Given the description of an element on the screen output the (x, y) to click on. 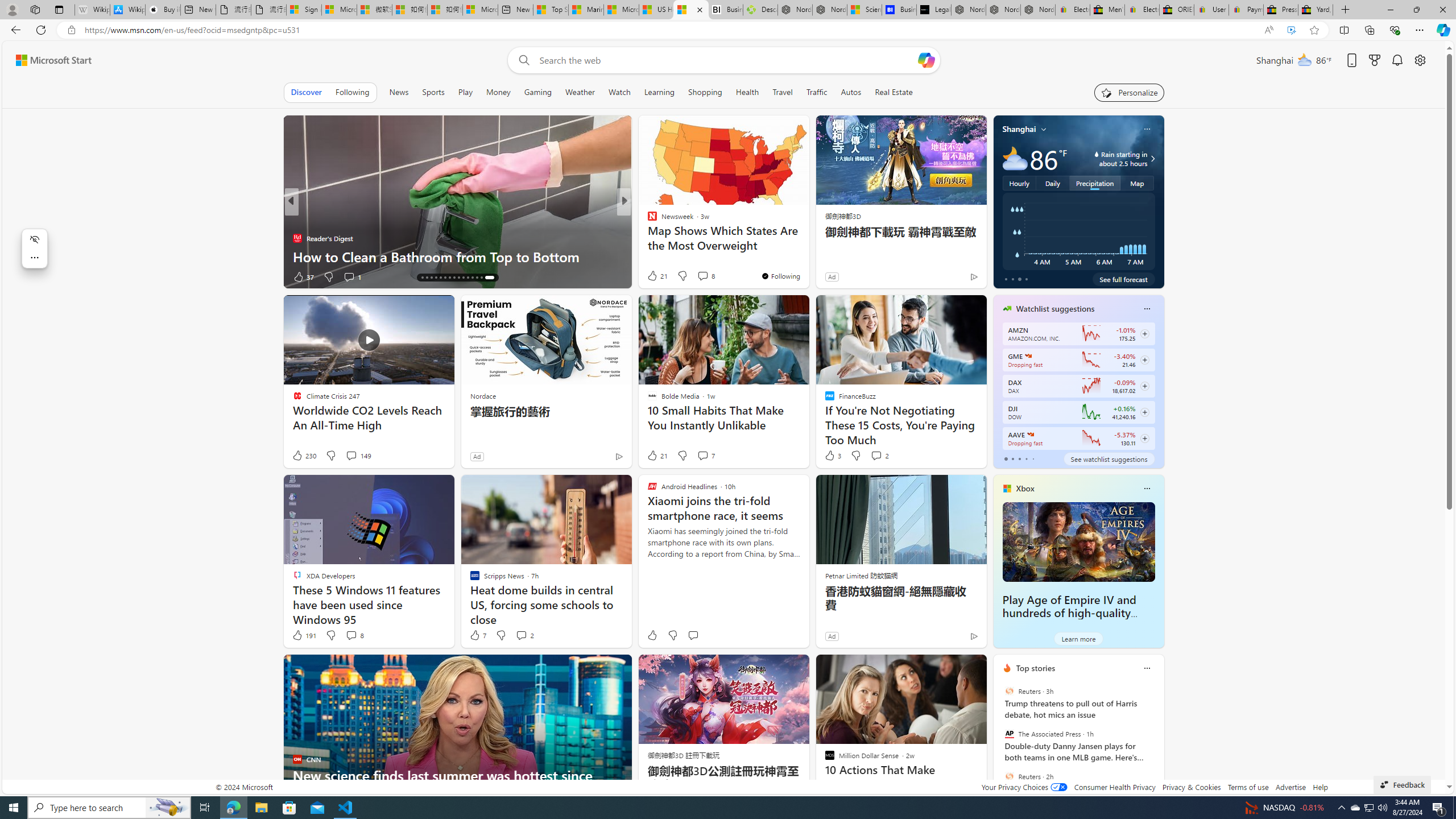
21 Like (657, 455)
Sign in to your Microsoft account (303, 9)
AutomationID: tab-26 (474, 277)
Descarga Driver Updater (760, 9)
303 Like (654, 276)
View comments 4 Comment (698, 276)
View comments 4 Comment (702, 276)
Reader's Digest (647, 238)
